Given the description of an element on the screen output the (x, y) to click on. 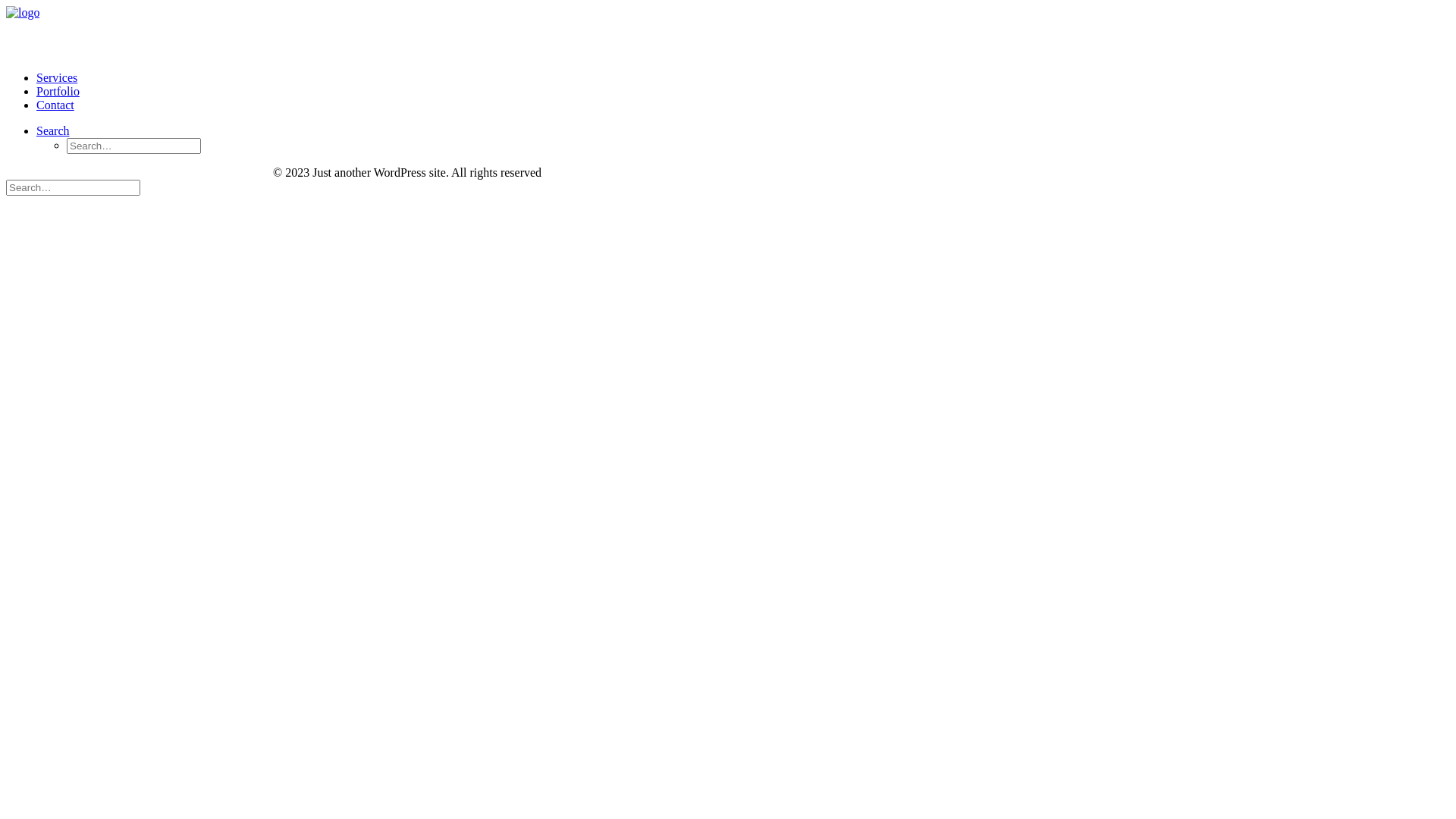
Search Element type: text (52, 130)
Portfolio Element type: text (57, 90)
Contact Element type: text (55, 104)
Services Element type: text (56, 77)
Search for: Element type: hover (73, 187)
